Given the description of an element on the screen output the (x, y) to click on. 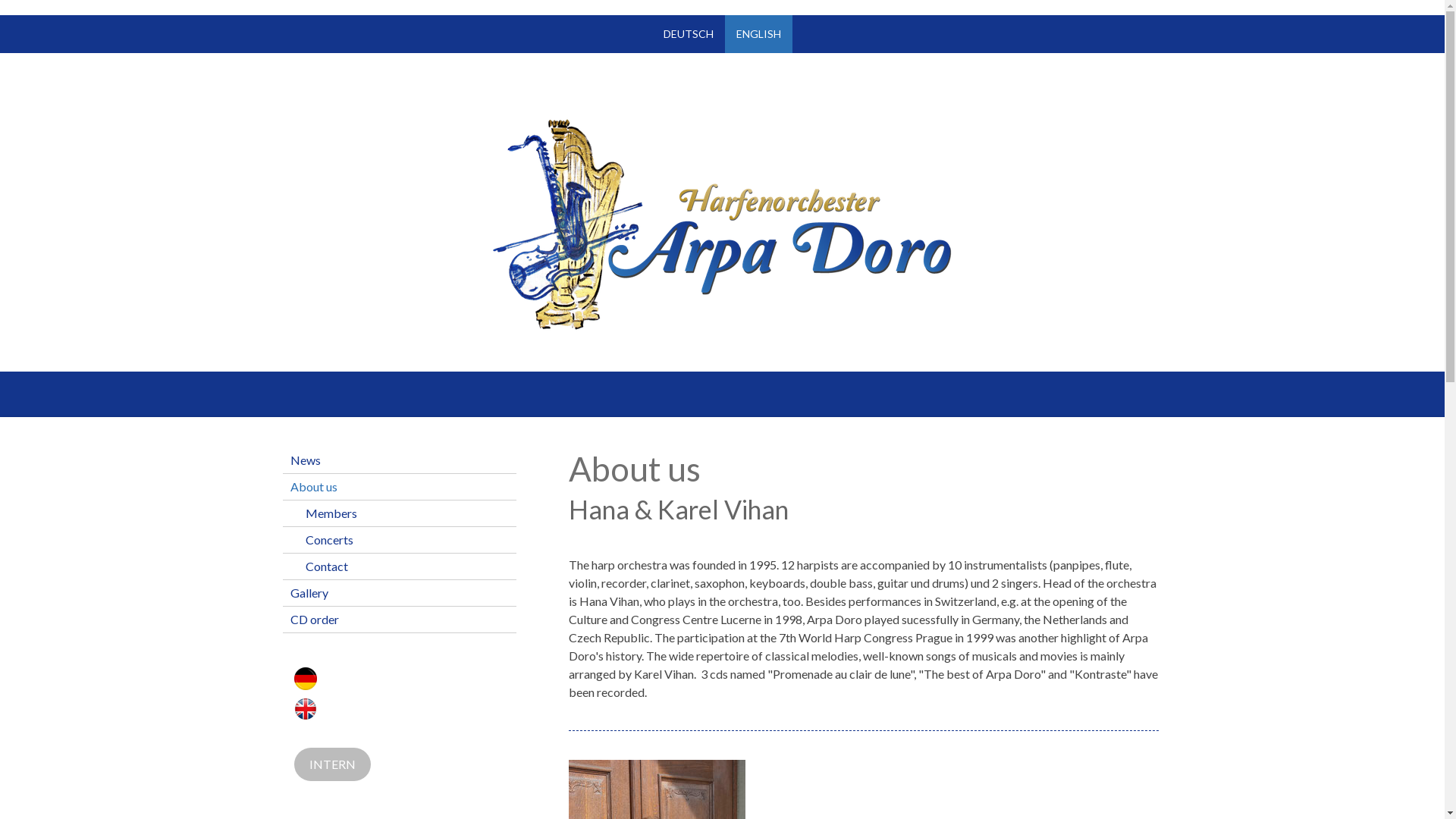
Concerts Element type: text (398, 540)
Contact Element type: text (398, 566)
ENGLISH Element type: text (758, 34)
CD order Element type: text (398, 619)
Members Element type: text (398, 513)
About us Element type: text (398, 486)
News Element type: text (398, 460)
Gallery Element type: text (398, 593)
INTERN Element type: text (332, 764)
DEUTSCH Element type: text (688, 34)
